Given the description of an element on the screen output the (x, y) to click on. 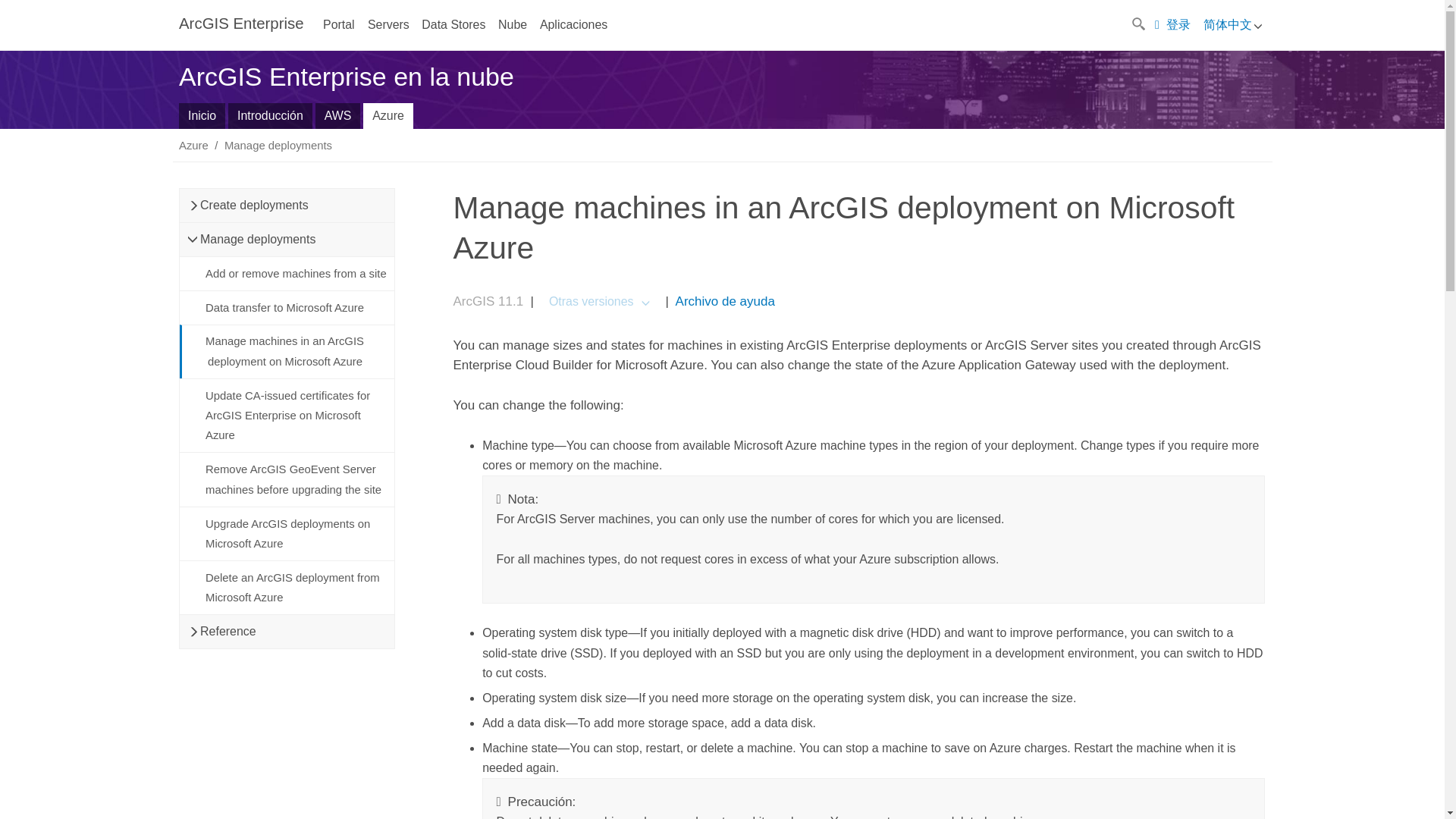
ArcGIS Enterprise (241, 24)
Temas de ayuda para ArcGIS Enterprise en Microsoft Azure (387, 115)
Temas de ayuda para ArcGIS Enterprise en Amazon Web Services (338, 115)
Aplicaciones (573, 24)
Data Stores (453, 24)
ArcGIS Enterprise en plataformas en la nube Inicio (202, 115)
